Given the description of an element on the screen output the (x, y) to click on. 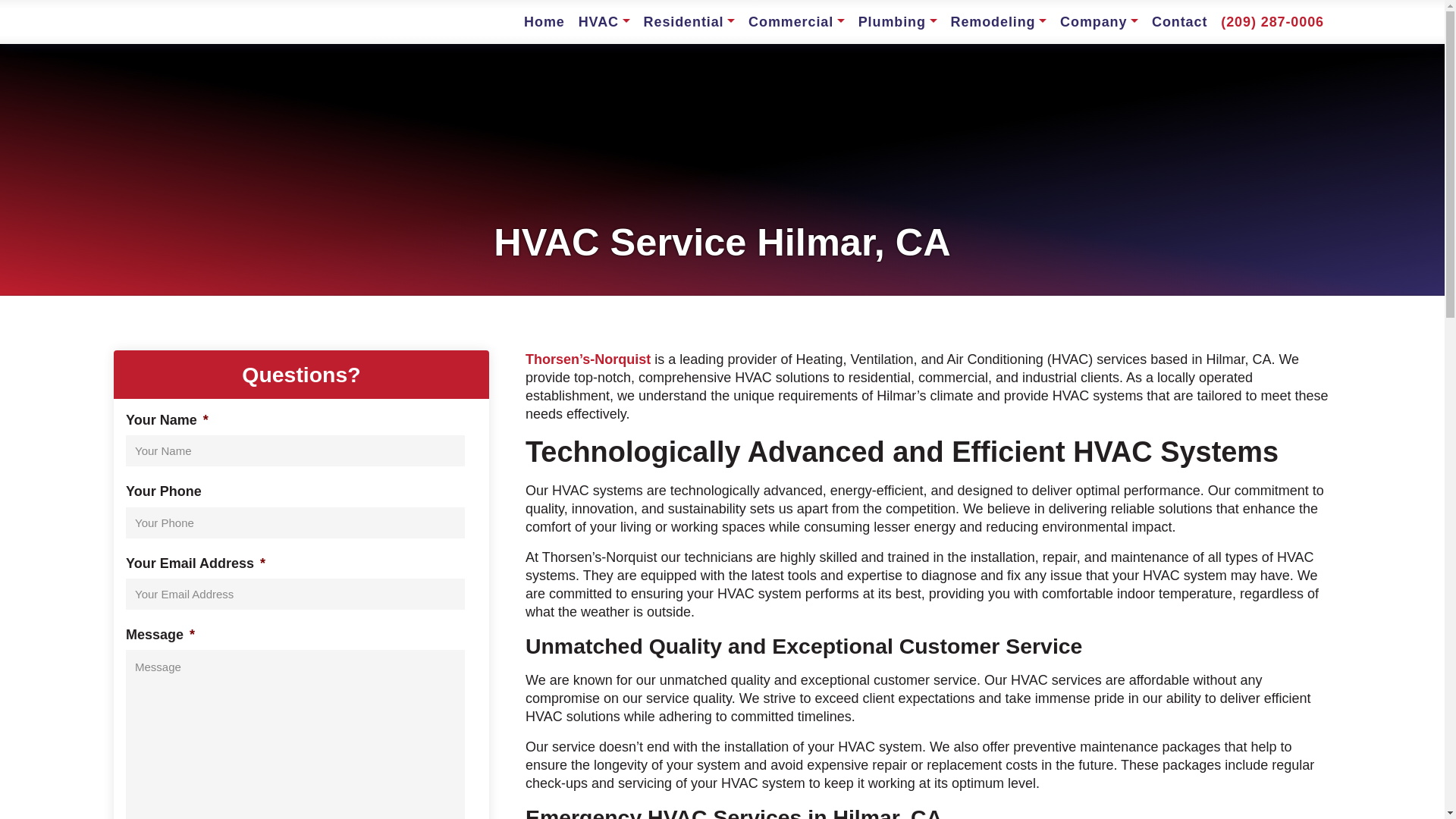
Plumbing (897, 22)
Company (1098, 22)
Remodeling (997, 22)
HVAC (604, 22)
Home (544, 22)
Residential (689, 22)
Commercial (796, 22)
